Given the description of an element on the screen output the (x, y) to click on. 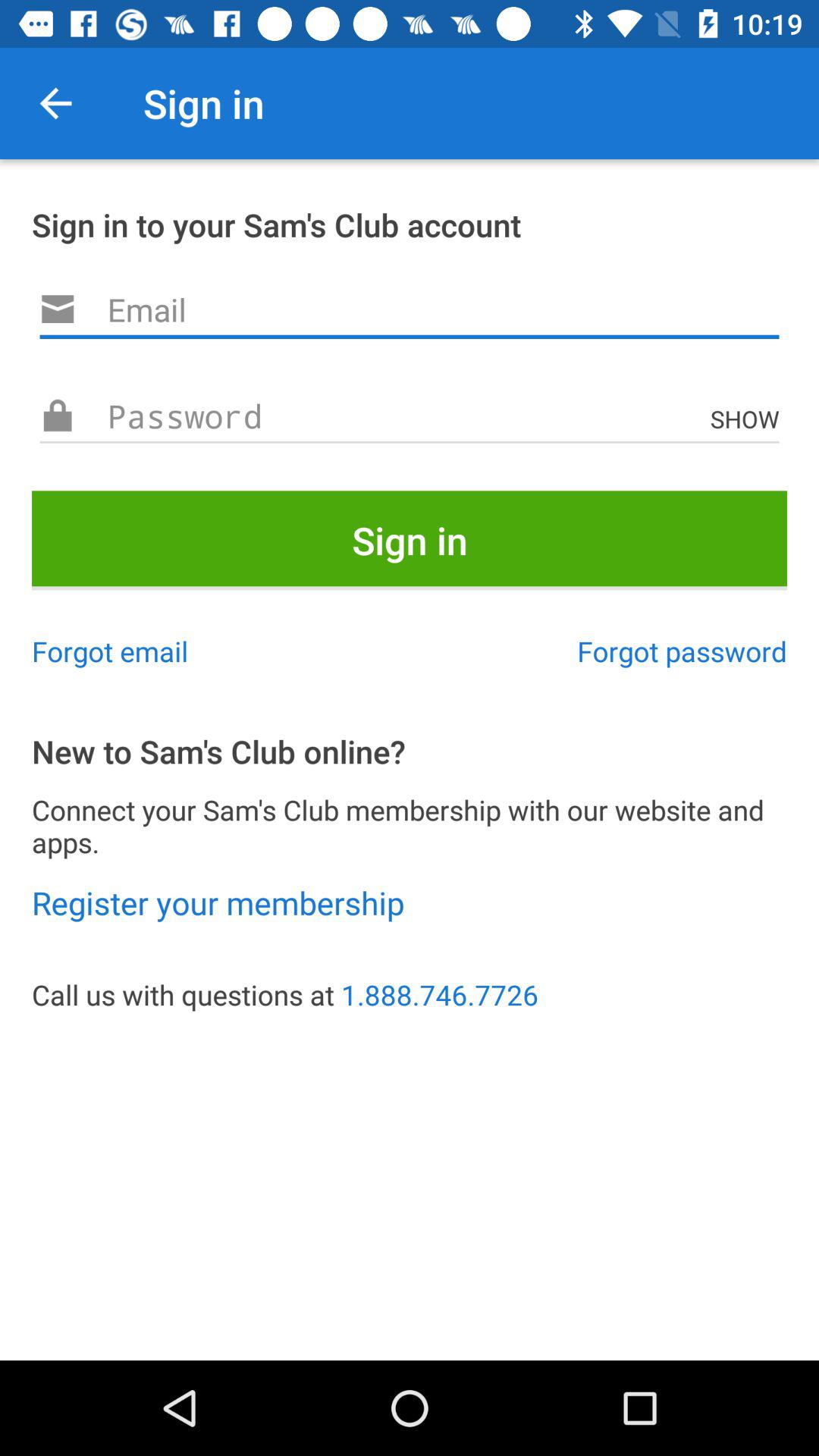
swipe until the call us with item (409, 994)
